Given the description of an element on the screen output the (x, y) to click on. 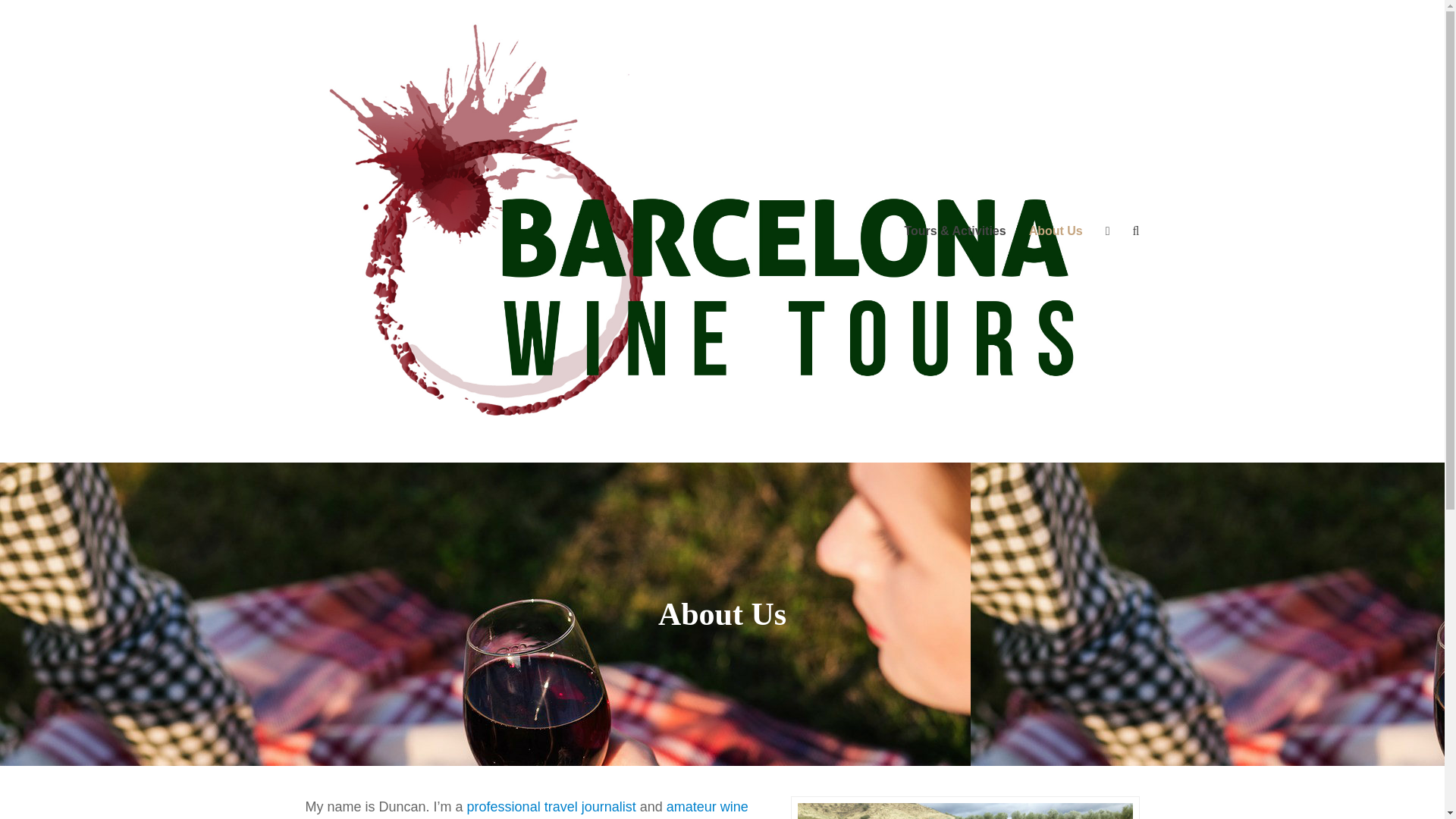
About Us (1055, 231)
professional travel journalist (551, 806)
amateur wine lover (526, 809)
Barcelona Wine Tours (721, 229)
